Given the description of an element on the screen output the (x, y) to click on. 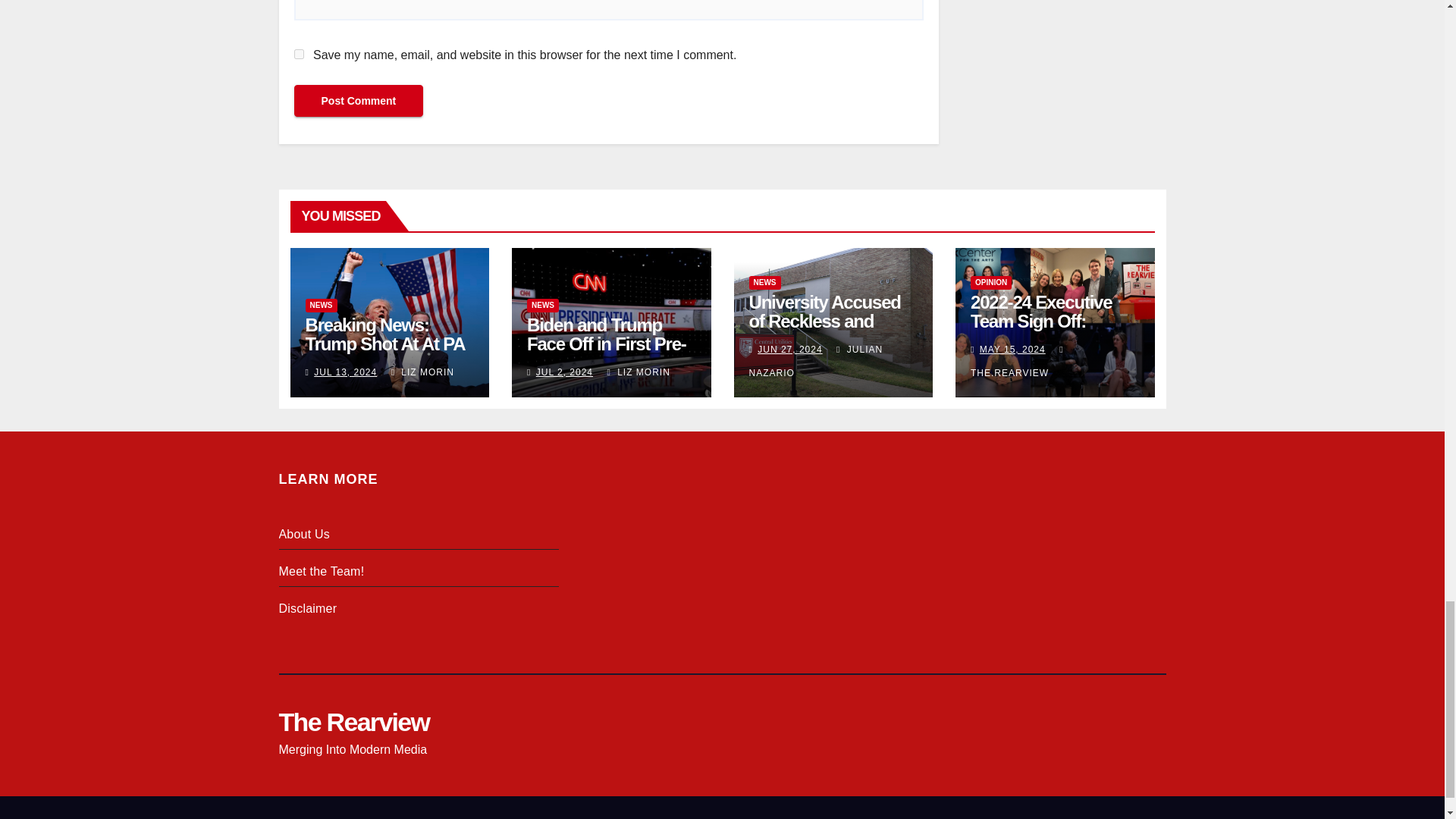
yes (299, 53)
Permalink to: Breaking News: Trump Shot At At PA Rally (384, 343)
Post Comment (358, 101)
